Given the description of an element on the screen output the (x, y) to click on. 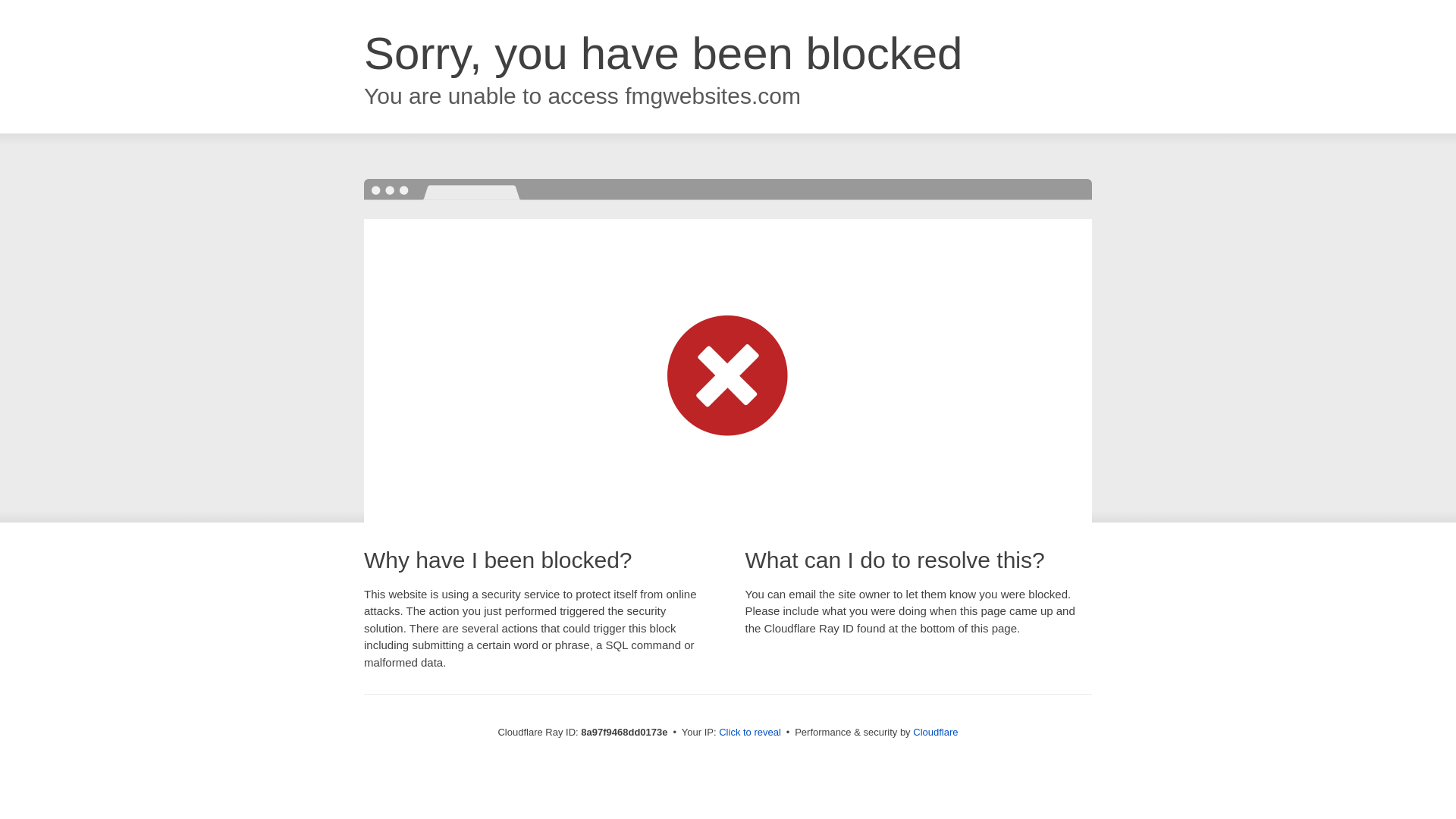
Cloudflare (935, 731)
Click to reveal (749, 732)
